Given the description of an element on the screen output the (x, y) to click on. 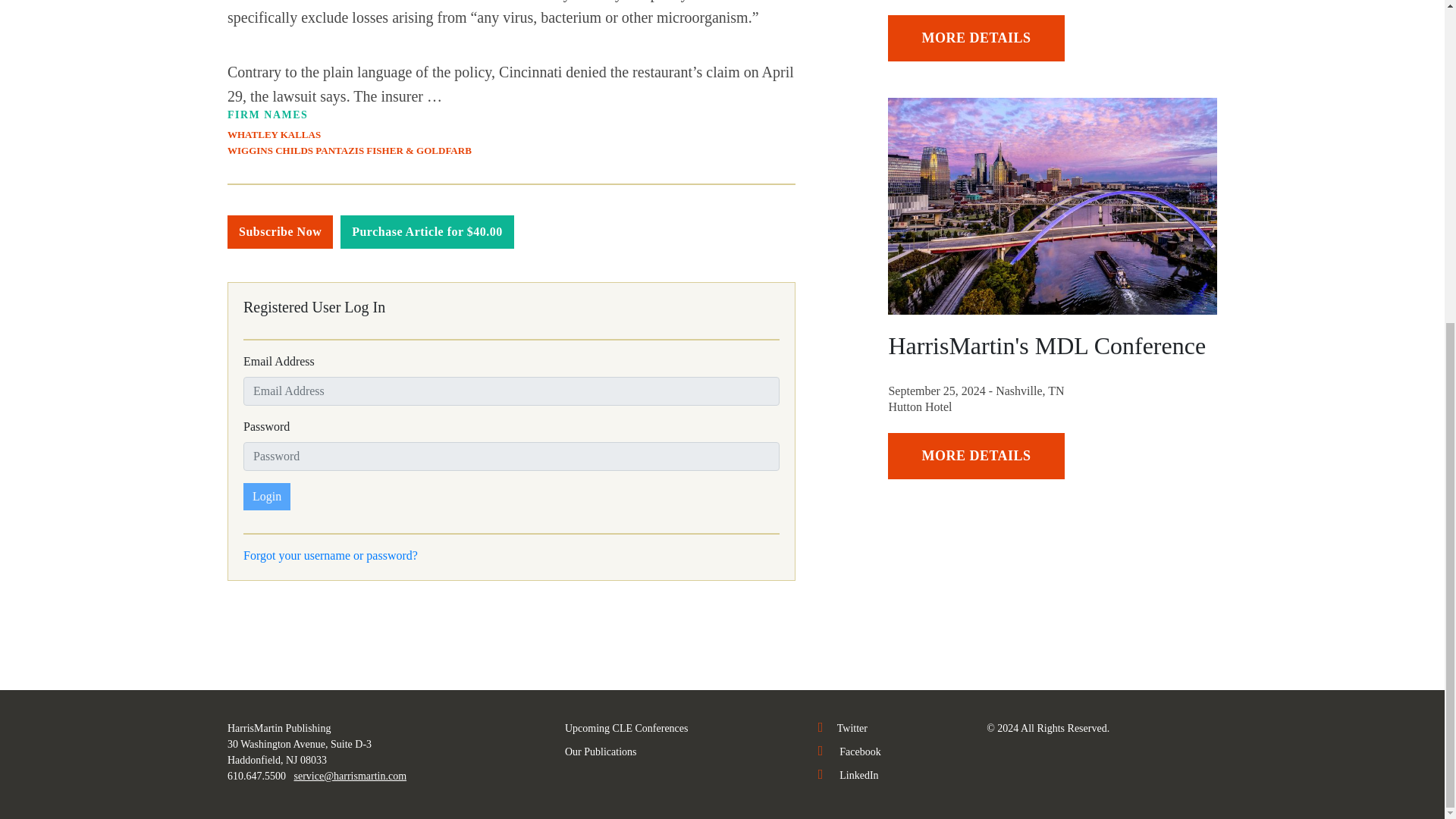
Subscribe Now (280, 231)
Login (266, 496)
Twitter (842, 727)
Upcoming CLE Conferences (626, 727)
LinkedIn (848, 775)
Forgot your username or password? (330, 554)
MORE DETAILS (976, 456)
Facebook (849, 751)
Our Publications (600, 751)
MORE DETAILS (976, 38)
